Given the description of an element on the screen output the (x, y) to click on. 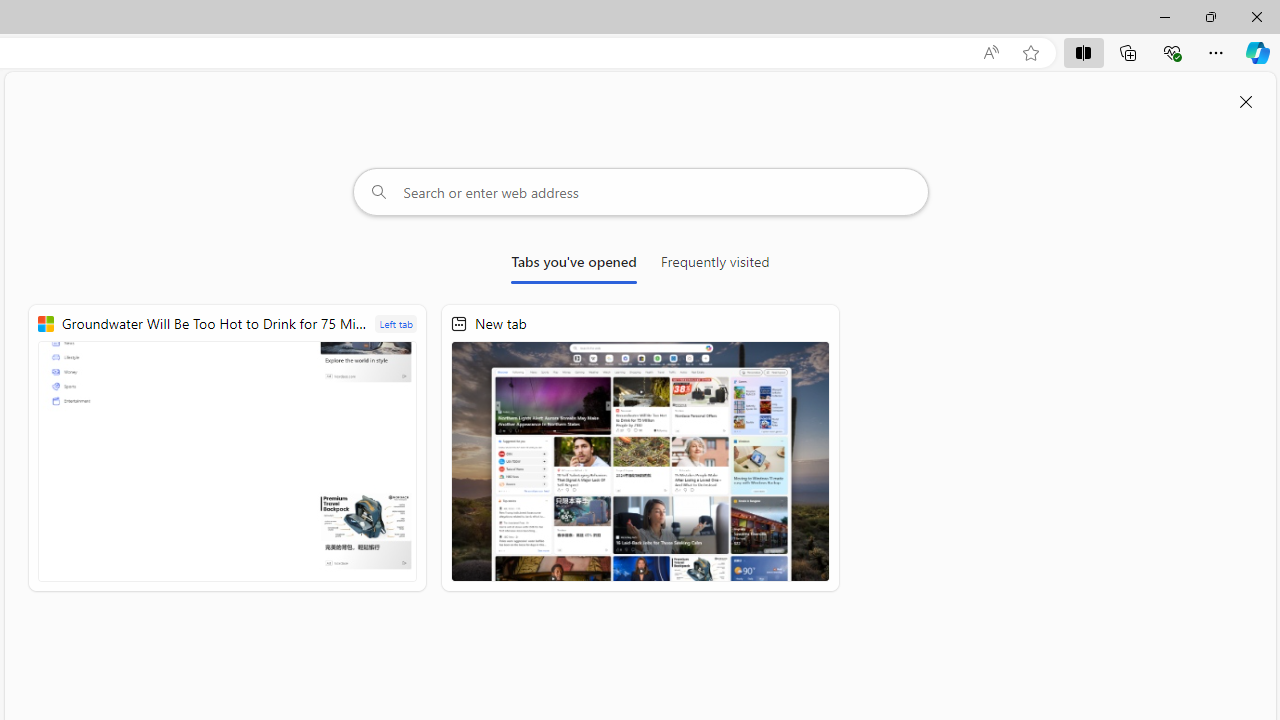
Browser essentials (1171, 52)
